Given the description of an element on the screen output the (x, y) to click on. 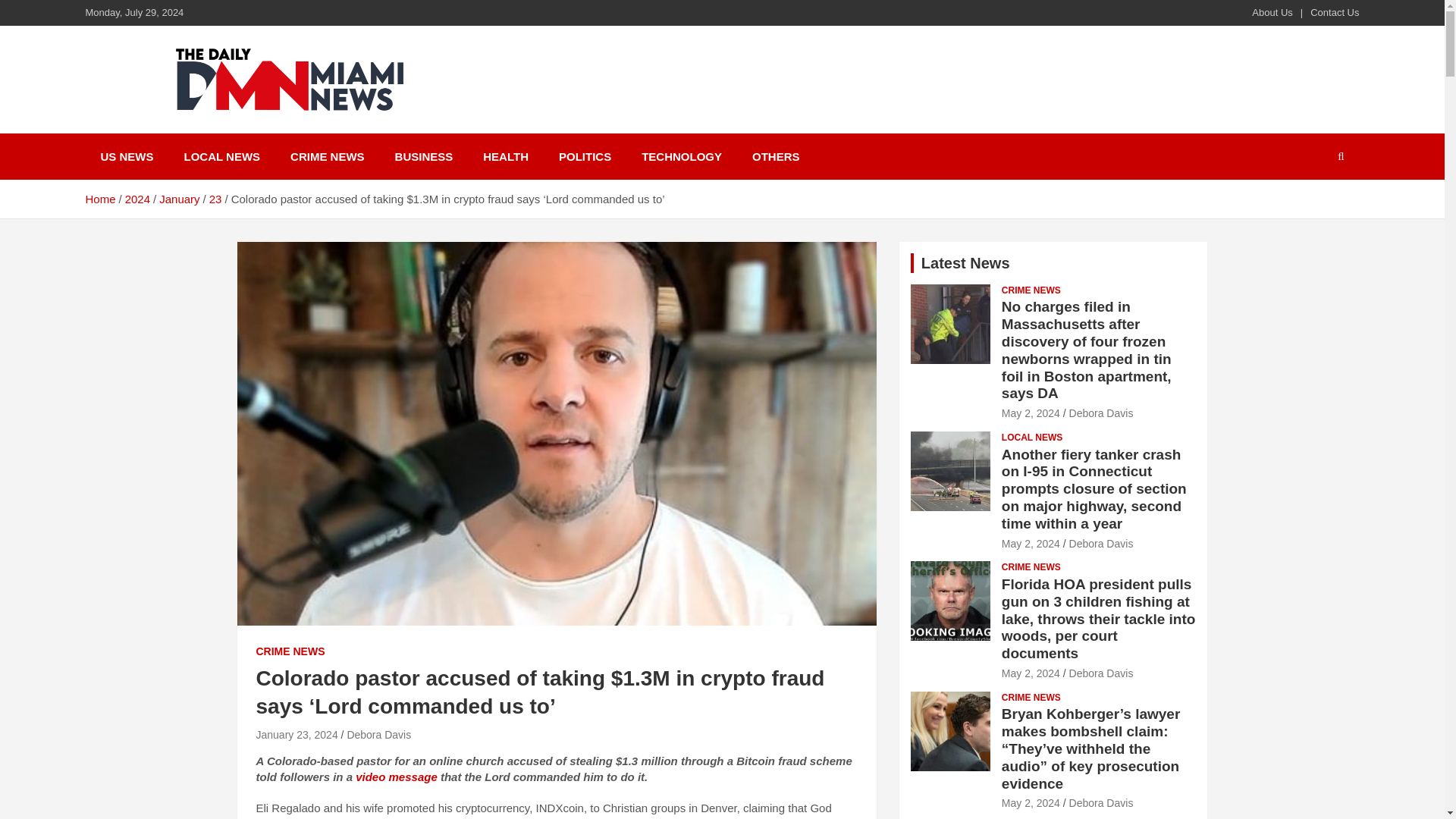
HEALTH (505, 156)
May 2, 2024 (1030, 413)
CRIME NEWS (327, 156)
US NEWS (126, 156)
May 2, 2024 (1030, 543)
video message (396, 776)
Debora Davis (1101, 413)
BUSINESS (424, 156)
Latest News (965, 262)
23 (215, 198)
CRIME NEWS (1031, 290)
CRIME NEWS (290, 652)
LOCAL NEWS (1031, 437)
